Given the description of an element on the screen output the (x, y) to click on. 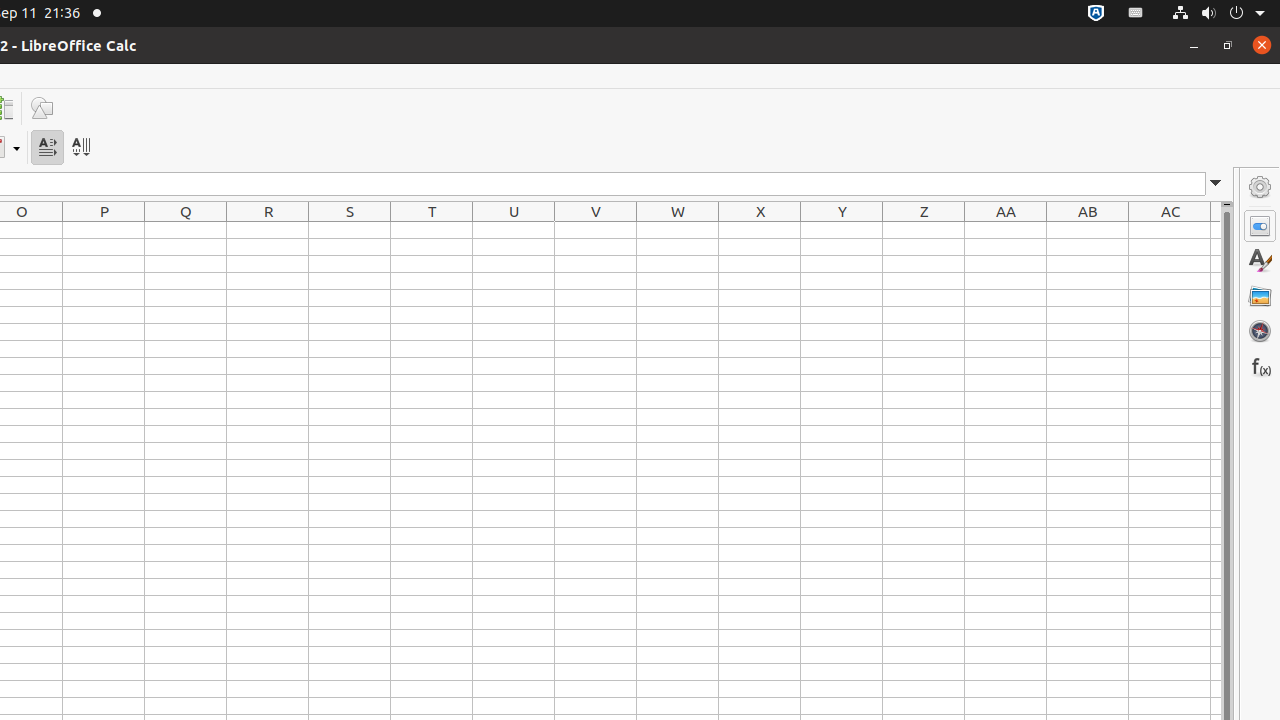
U1 Element type: table-cell (514, 230)
AA1 Element type: table-cell (1006, 230)
Properties Element type: radio-button (1260, 226)
Gallery Element type: radio-button (1260, 296)
